Given the description of an element on the screen output the (x, y) to click on. 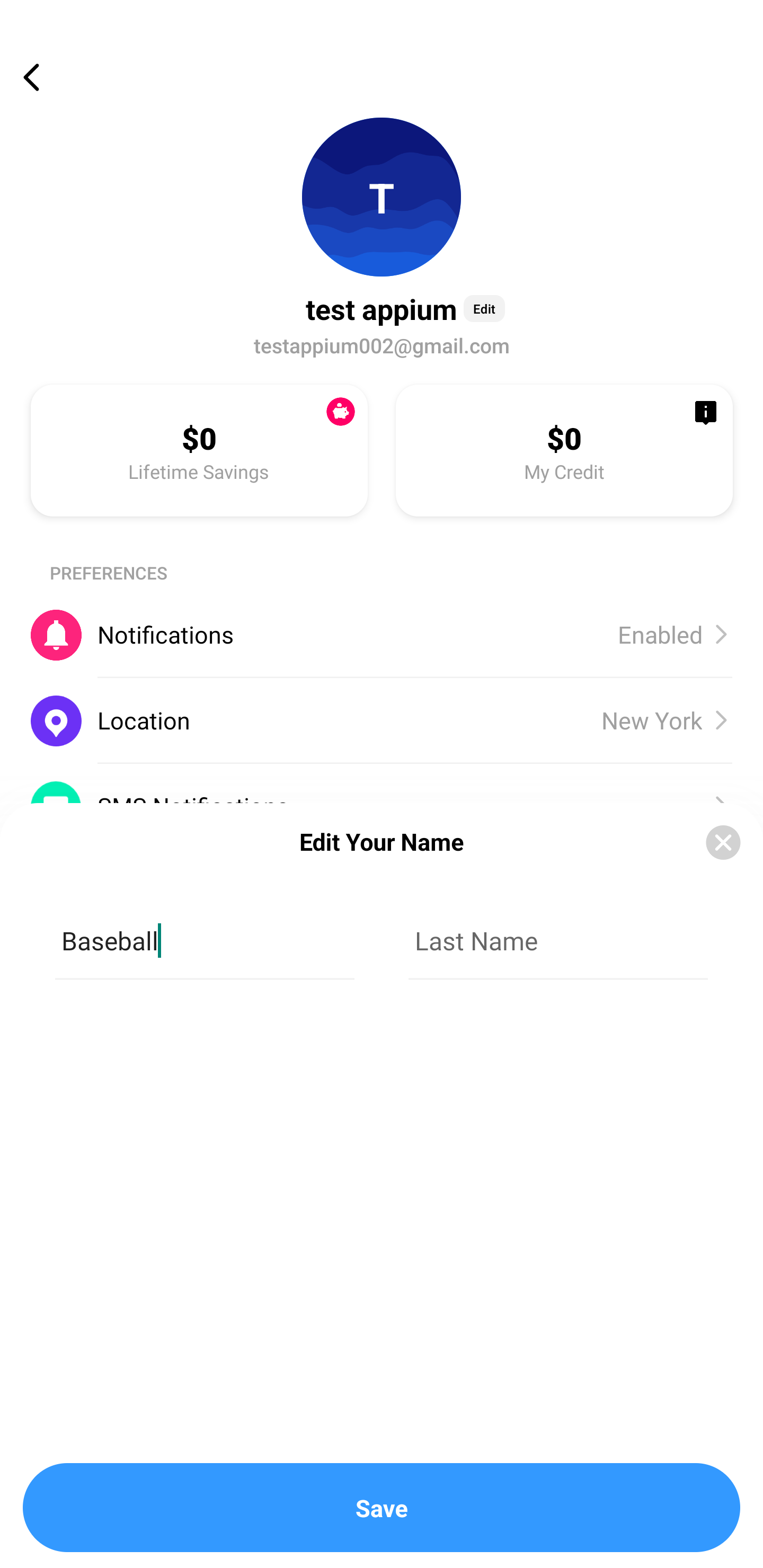
Baseball (204, 940)
Last Name (558, 940)
Save (381, 1507)
